Given the description of an element on the screen output the (x, y) to click on. 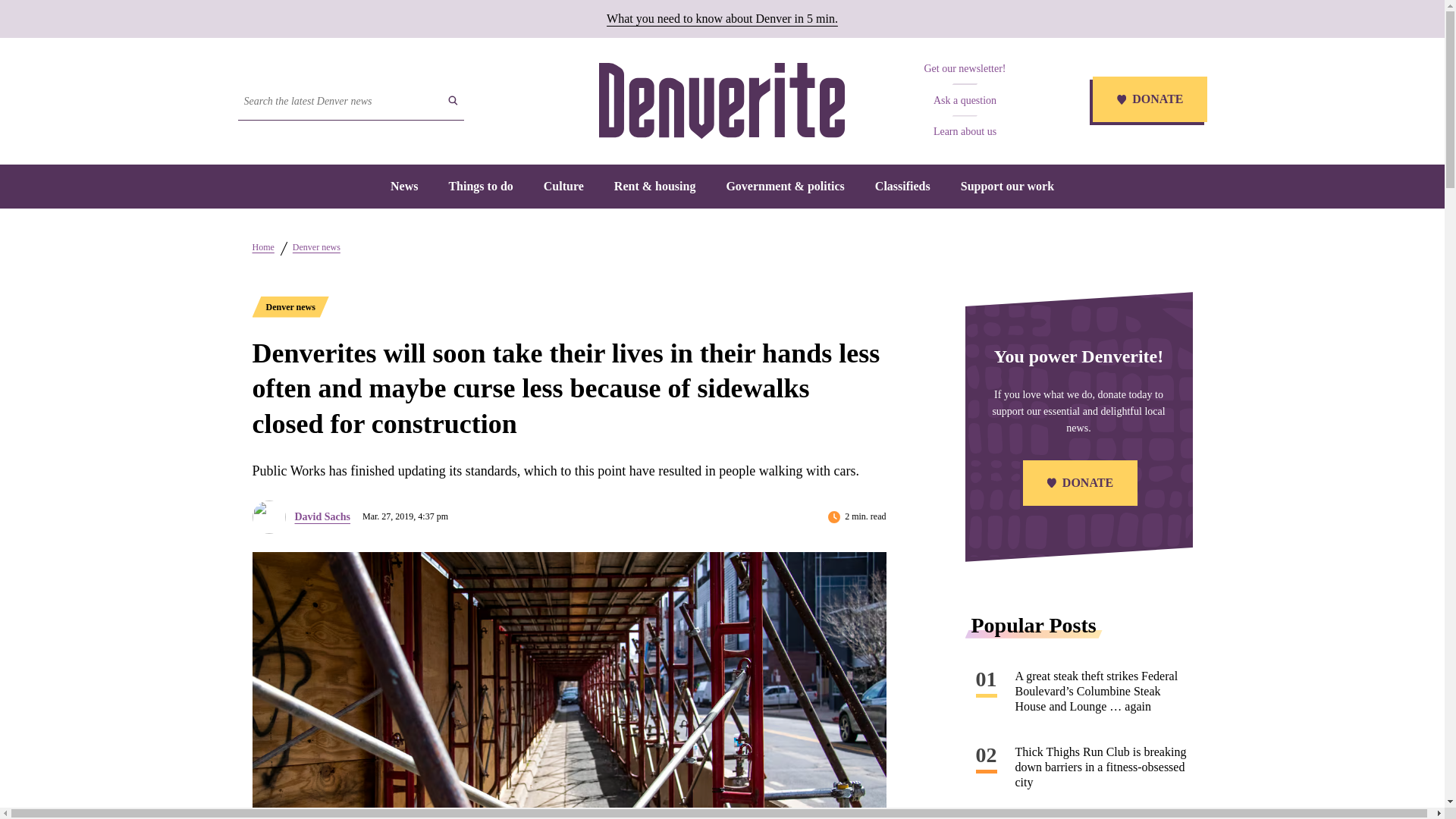
Learn about us (964, 131)
Culture (563, 185)
David Sachs (322, 516)
DONATE (1078, 484)
News (403, 185)
Denverite (721, 100)
Denver news (290, 305)
Get our newsletter! (964, 68)
Ask a question (964, 99)
Denver news (316, 245)
